Given the description of an element on the screen output the (x, y) to click on. 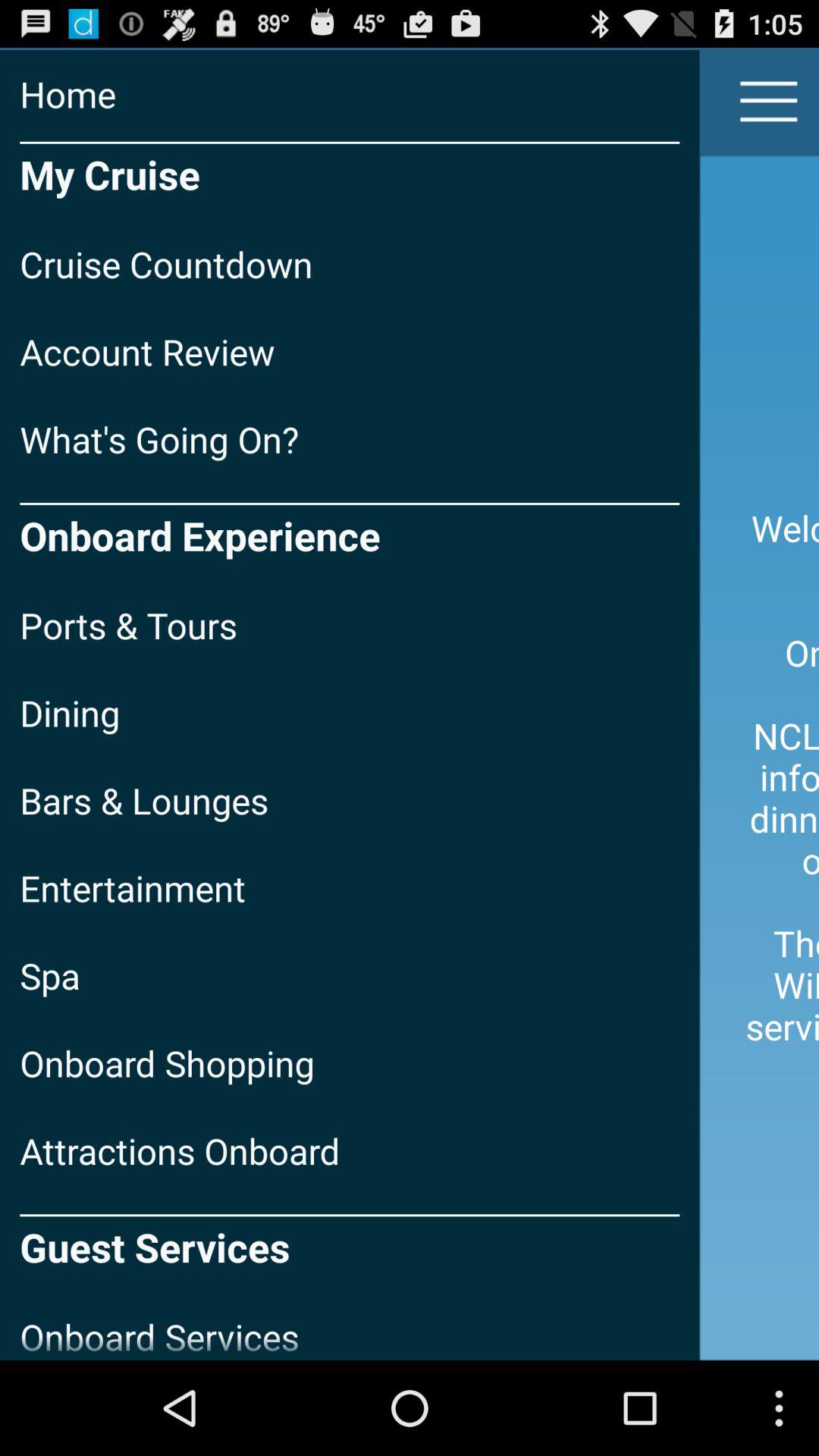
select item next to the home (769, 101)
